Given the description of an element on the screen output the (x, y) to click on. 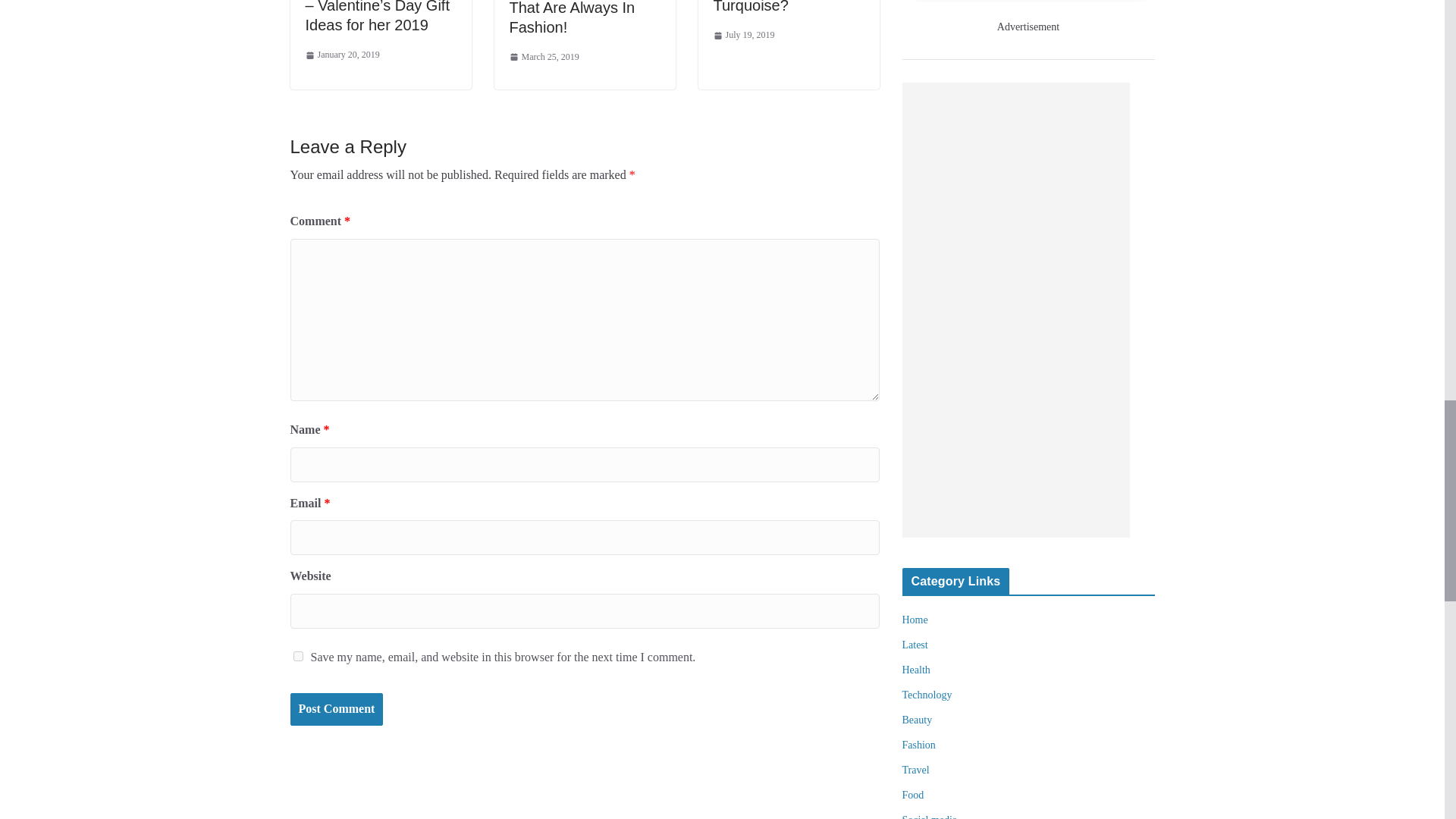
10:28 pm (341, 54)
Post Comment (335, 708)
yes (297, 655)
January 20, 2019 (341, 54)
